Given the description of an element on the screen output the (x, y) to click on. 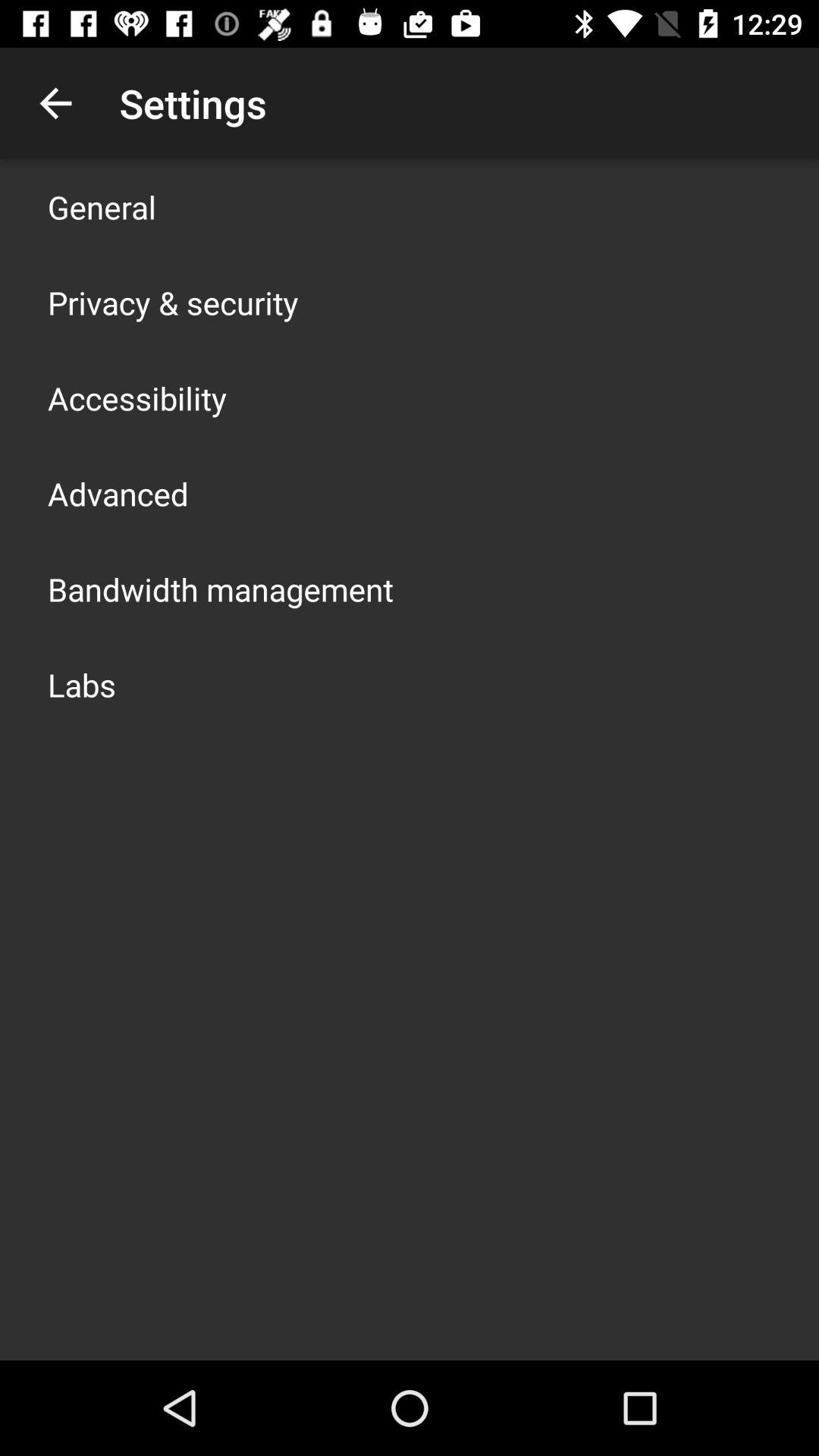
choose the item above the general icon (55, 103)
